Given the description of an element on the screen output the (x, y) to click on. 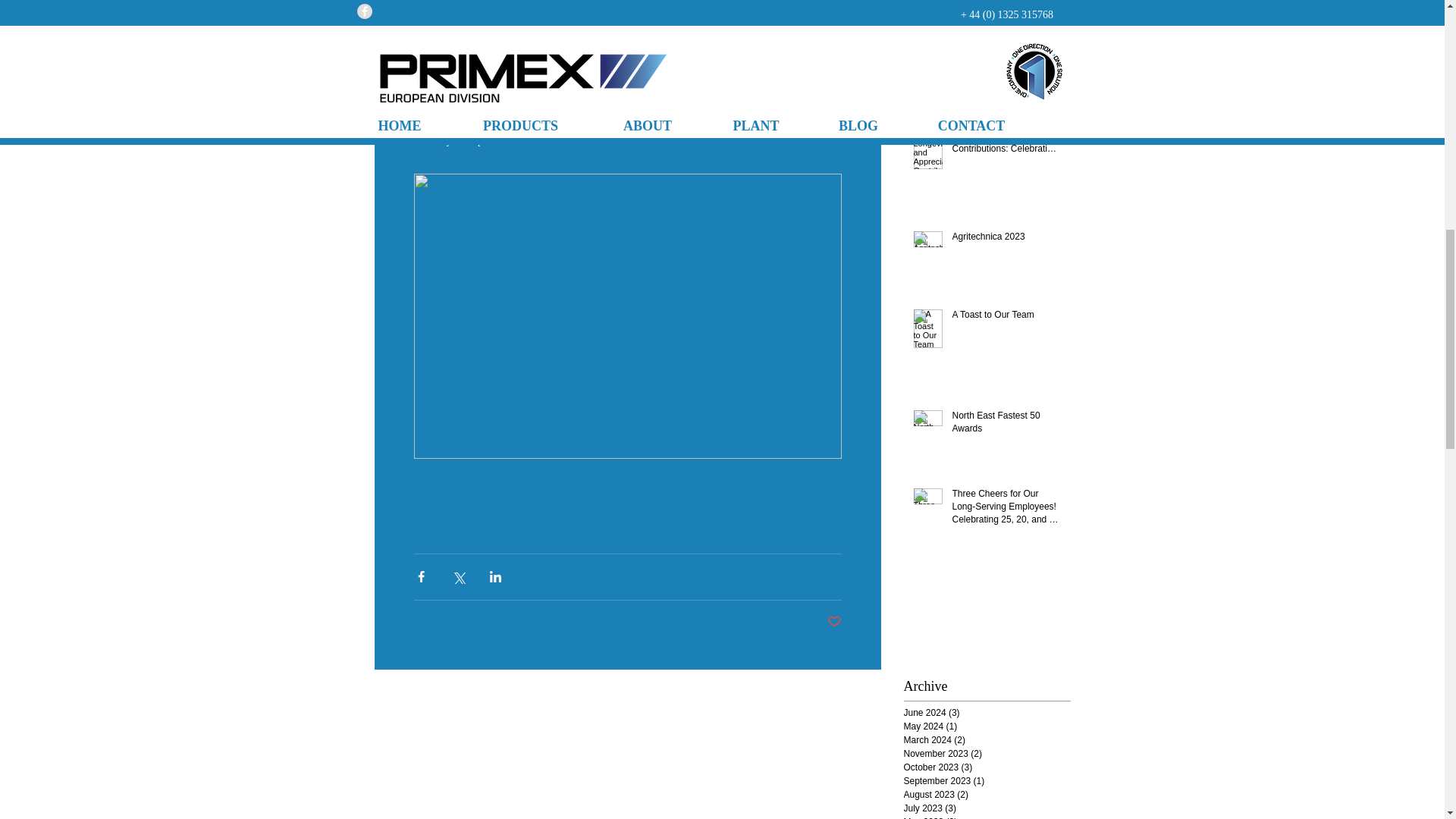
North East Fastest 50 Awards (1006, 425)
Agritechnica 2023 (1006, 239)
A Toast to Our Team (1006, 317)
Post not marked as liked (834, 621)
Company of the Year - Make Your Mark Awards finalist (1006, 47)
